Given the description of an element on the screen output the (x, y) to click on. 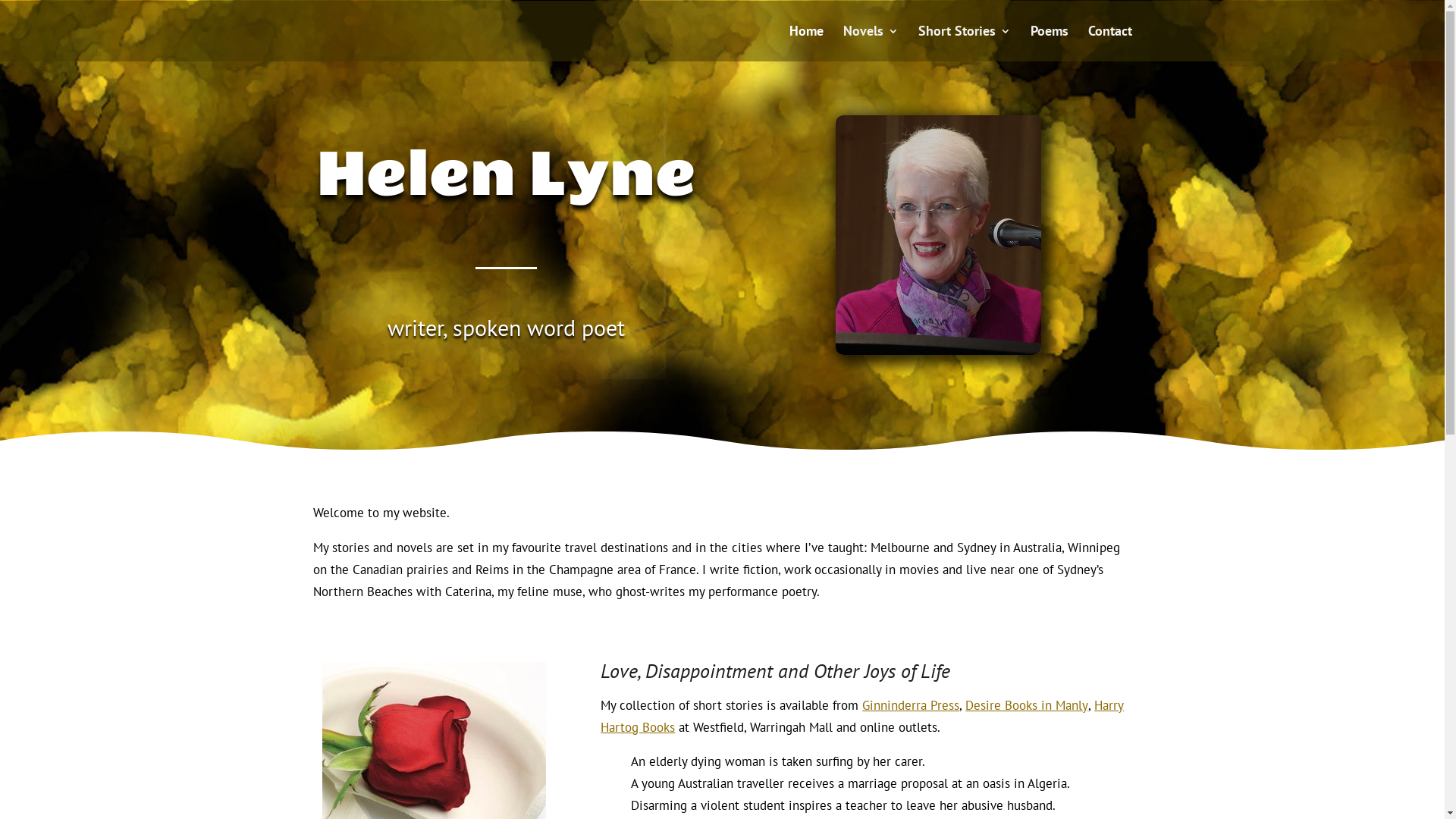
Contact Element type: text (1109, 43)
Home Element type: text (805, 43)
Desire Books in Manly Element type: text (1026, 704)
Harry Hartog Books Element type: text (861, 715)
Poems Element type: text (1048, 43)
Ginninderra Press Element type: text (910, 704)
Short Stories Element type: text (963, 43)
Novels Element type: text (870, 43)
Helen Lyne Element type: hover (937, 234)
